Given the description of an element on the screen output the (x, y) to click on. 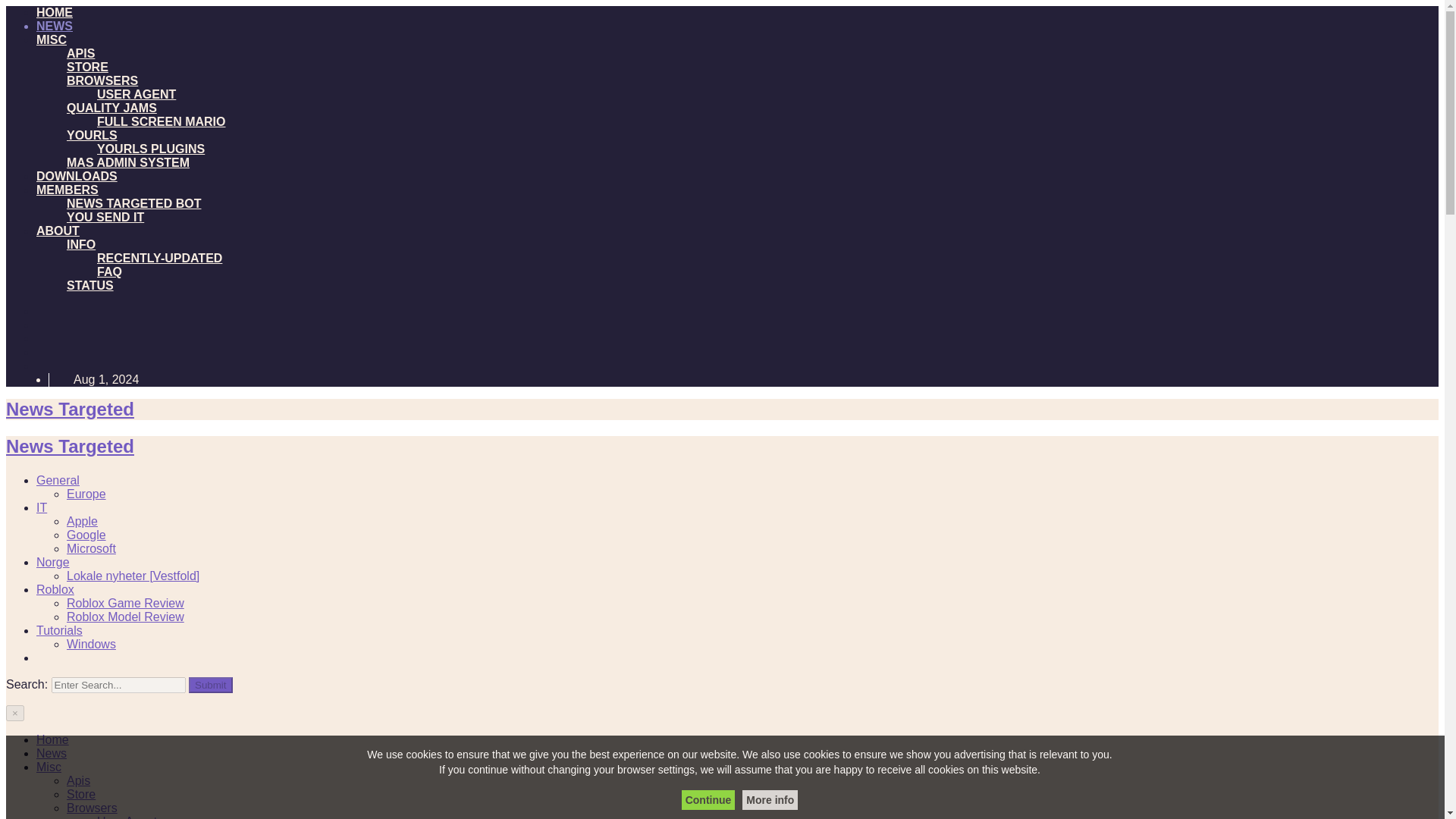
Norge (52, 562)
538 articles (91, 548)
HOME (54, 11)
Apple (81, 521)
YOURLS PLUGINS (151, 148)
Europe (86, 493)
MISC (51, 39)
Google (86, 534)
General (58, 480)
FAQ (109, 271)
More info (769, 799)
News Targeted (69, 408)
887 articles (58, 480)
RECENTLY-UPDATED (159, 257)
MAS ADMIN SYSTEM (127, 162)
